Given the description of an element on the screen output the (x, y) to click on. 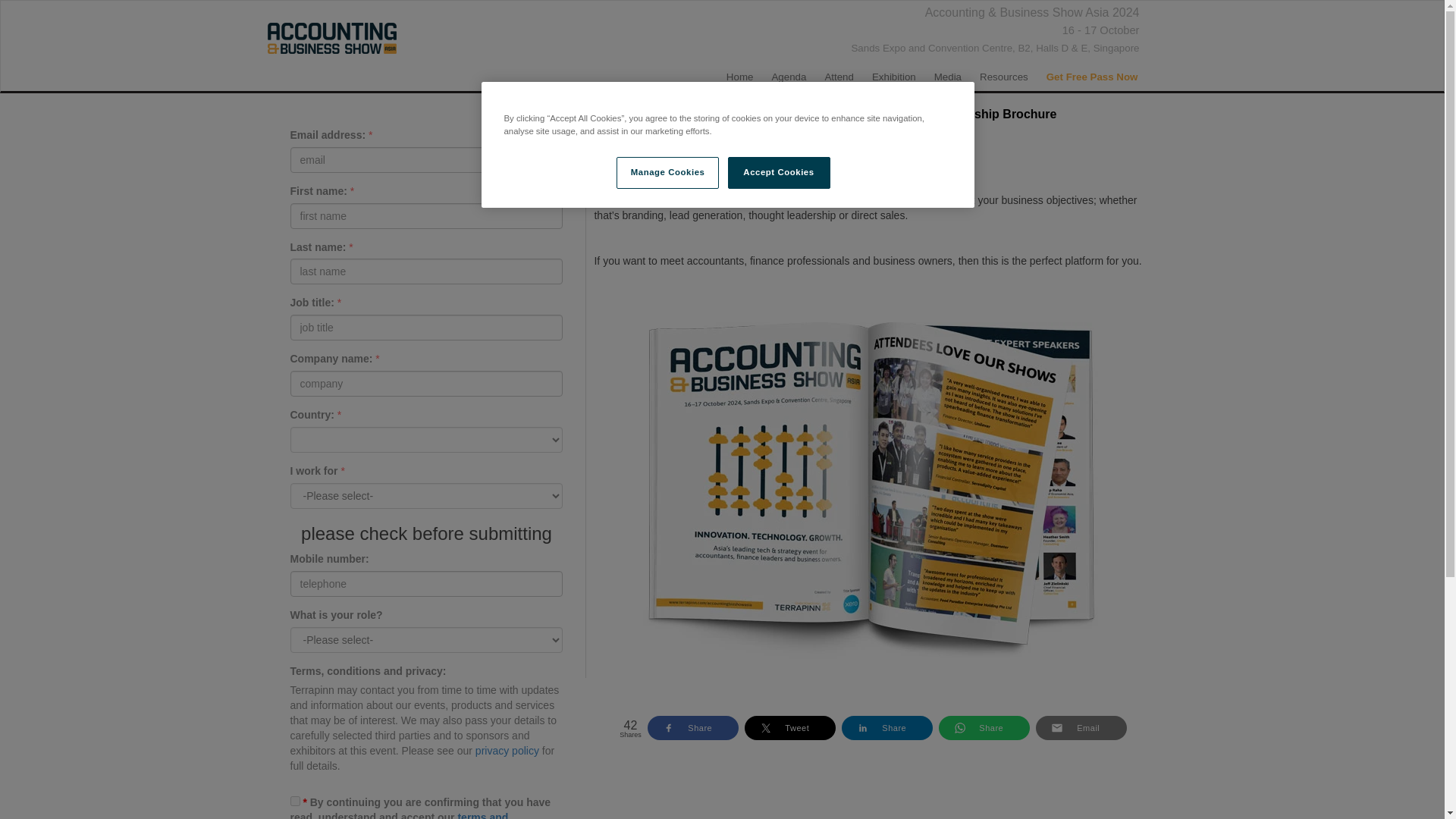
Agenda (788, 78)
Agenda (788, 78)
privacy policy (507, 750)
2024-10-16 (1101, 30)
terms and conditions (398, 815)
CREATE AGILITY. EMBRACE TECHNOLOGY. ACCELERATE GROWTH. (331, 38)
Resources (1003, 78)
add to my diary (786, 30)
on (294, 800)
Attend (839, 78)
Attend (839, 78)
Get Free Pass Now (1091, 78)
Media (947, 78)
Exhibition (893, 78)
Home (739, 78)
